Given the description of an element on the screen output the (x, y) to click on. 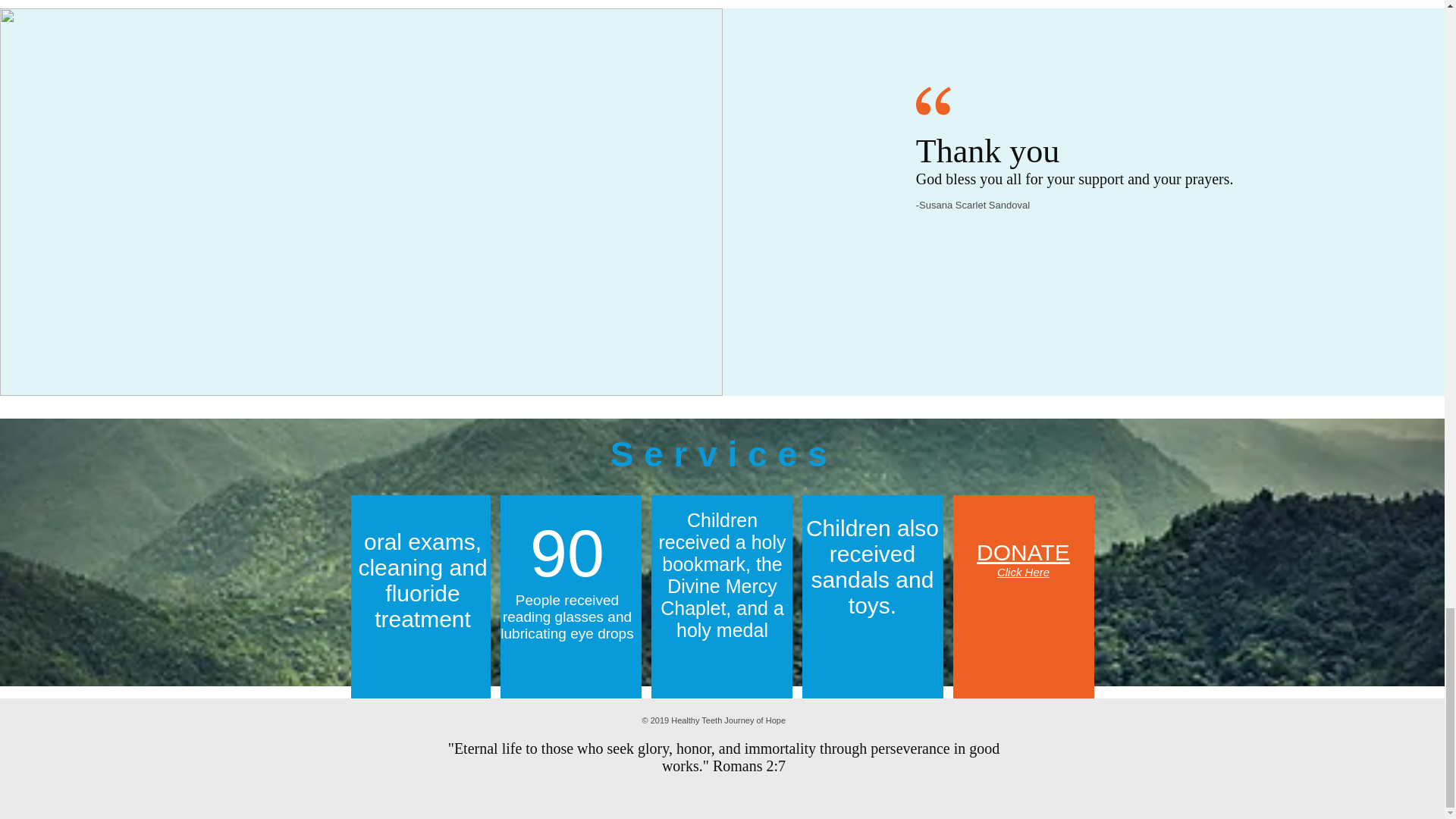
Click Here (1023, 571)
DONATE (1023, 552)
